Given the description of an element on the screen output the (x, y) to click on. 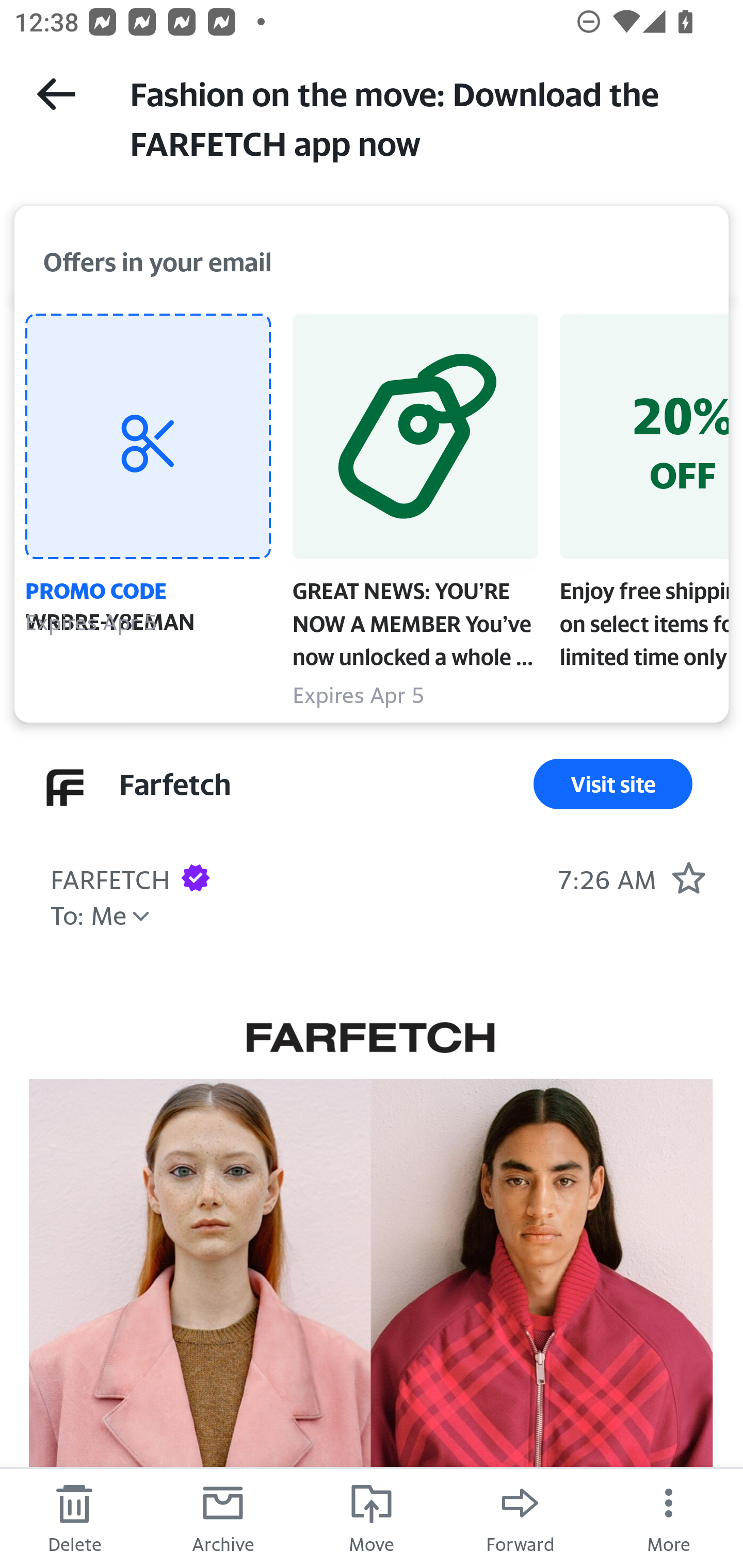
Back (55, 93)
Fashion on the move: Download the FARFETCH app now (418, 116)
View all messages from sender (64, 787)
Visit site Visit Site Link (612, 783)
Farfetch Sender Farfetch (174, 783)
FARFETCH Sender FARFETCH (110, 877)
Mark as starred. (688, 877)
FARFETCH (370, 1039)
Delete (74, 1517)
Archive (222, 1517)
Move (371, 1517)
Forward (519, 1517)
More (668, 1517)
